Given the description of an element on the screen output the (x, y) to click on. 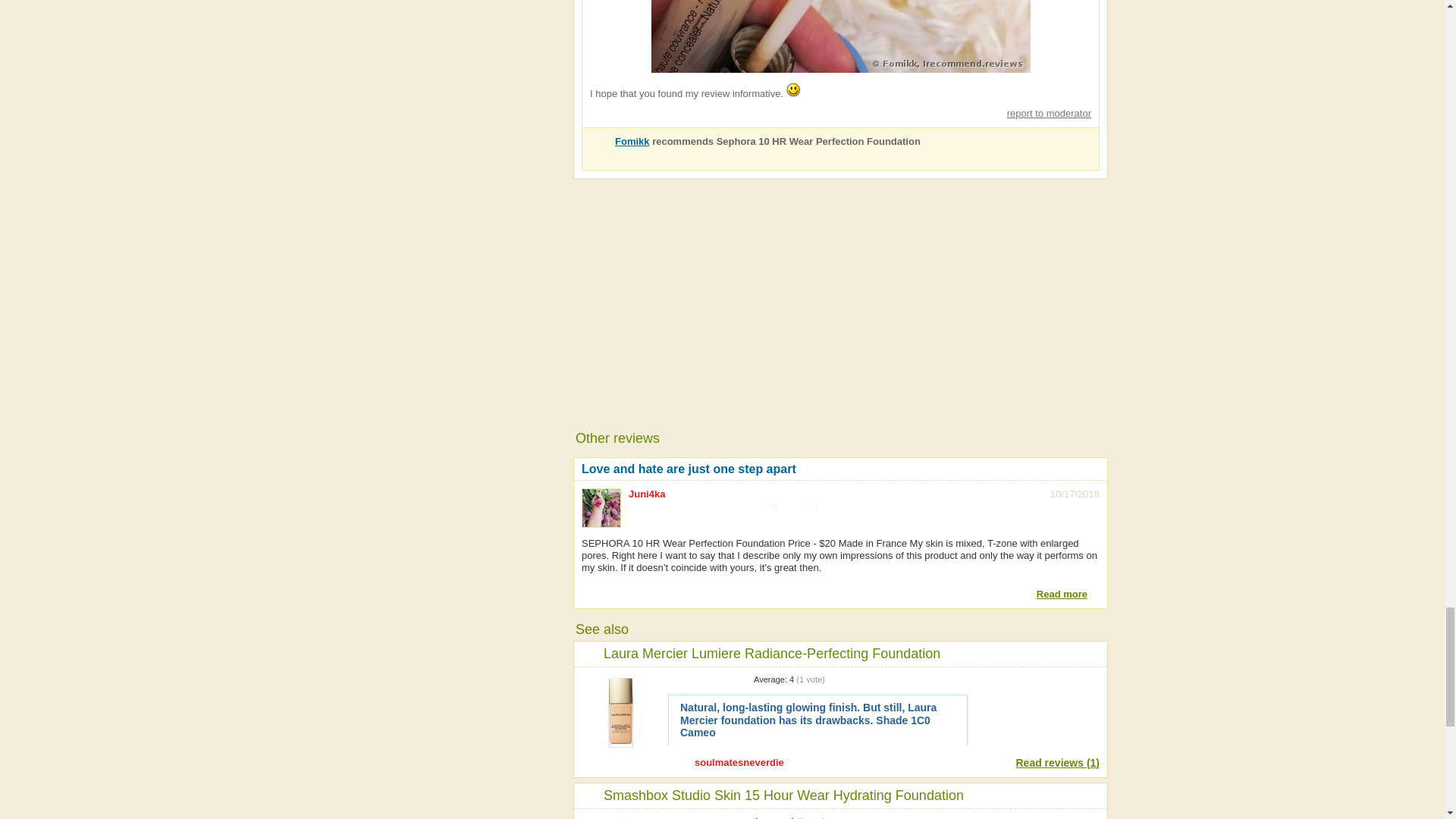
Fomikk (631, 141)
Write a review (1037, 701)
report to moderator (1042, 112)
